Given the description of an element on the screen output the (x, y) to click on. 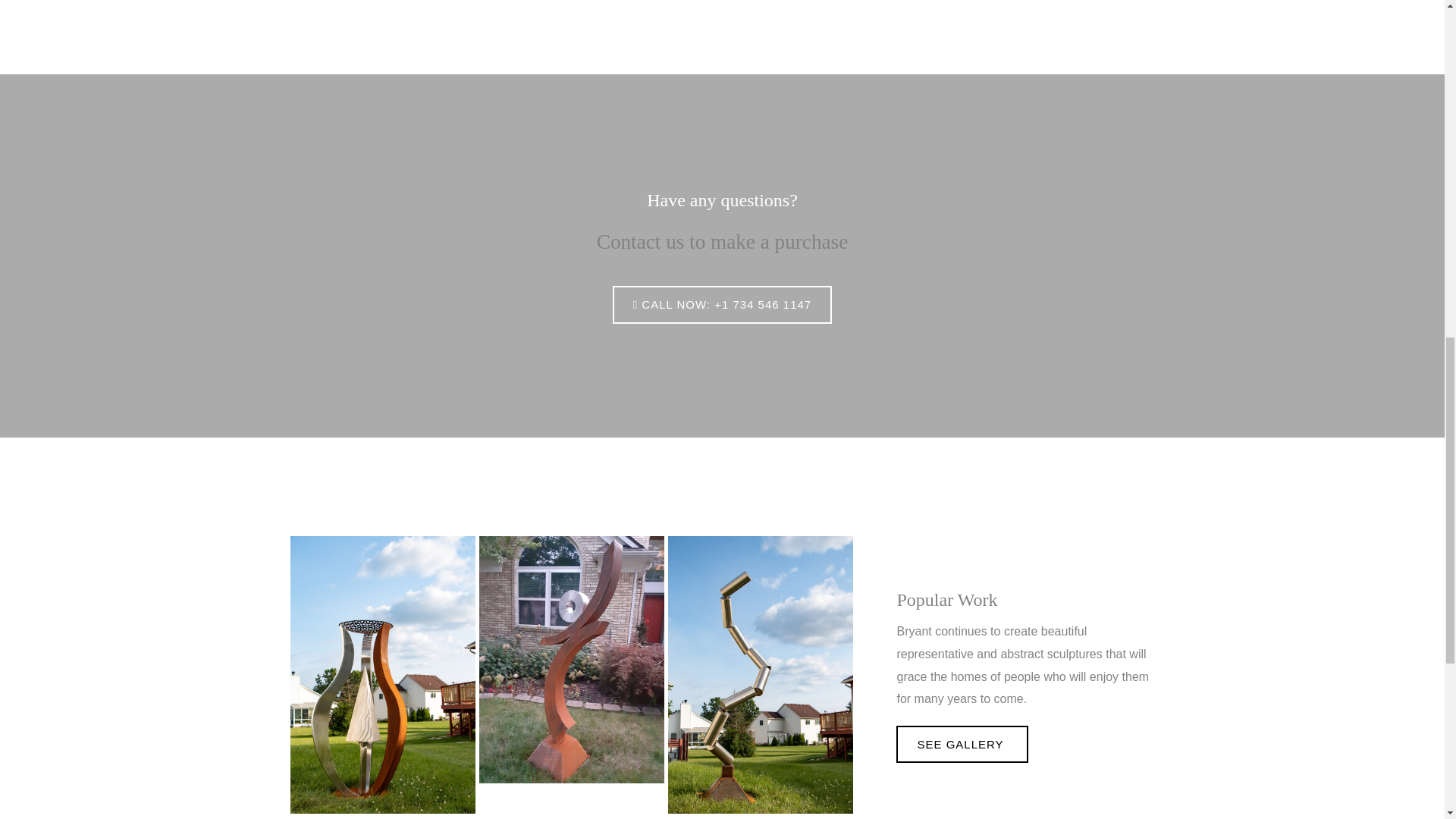
SEE GALLERY (961, 743)
